Given the description of an element on the screen output the (x, y) to click on. 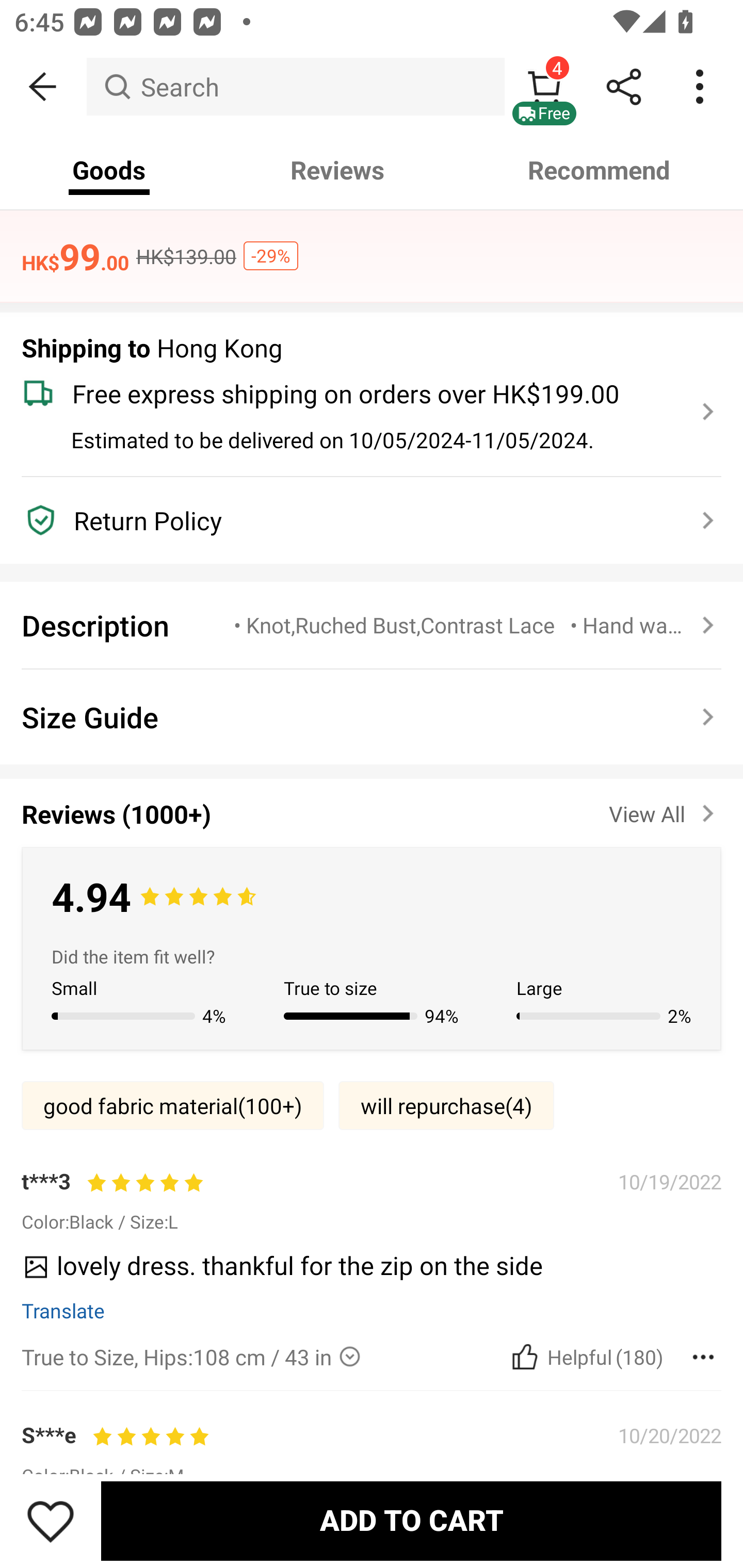
BACK (43, 86)
4 Free (543, 87)
Search (295, 87)
Goods (109, 170)
Reviews (337, 170)
Recommend (599, 170)
Return Policy (359, 520)
Size Guide (371, 717)
View All (664, 809)
good fabric material(100‎+) (172, 1105)
will repurchase(4) (446, 1105)
t***3 Rating5.0 10/19/2022 Color:Black / Size:L (371, 1200)
  lovely dress. thankful for the zip on the side (363, 1272)
Translate (62, 1309)
Cancel Helpful Was this article helpful? (180) (585, 1356)
S***e Rating5.0 10/20/2022 Color:Black / Size:M (371, 1454)
ADD TO CART (411, 1520)
Save (50, 1520)
